Given the description of an element on the screen output the (x, y) to click on. 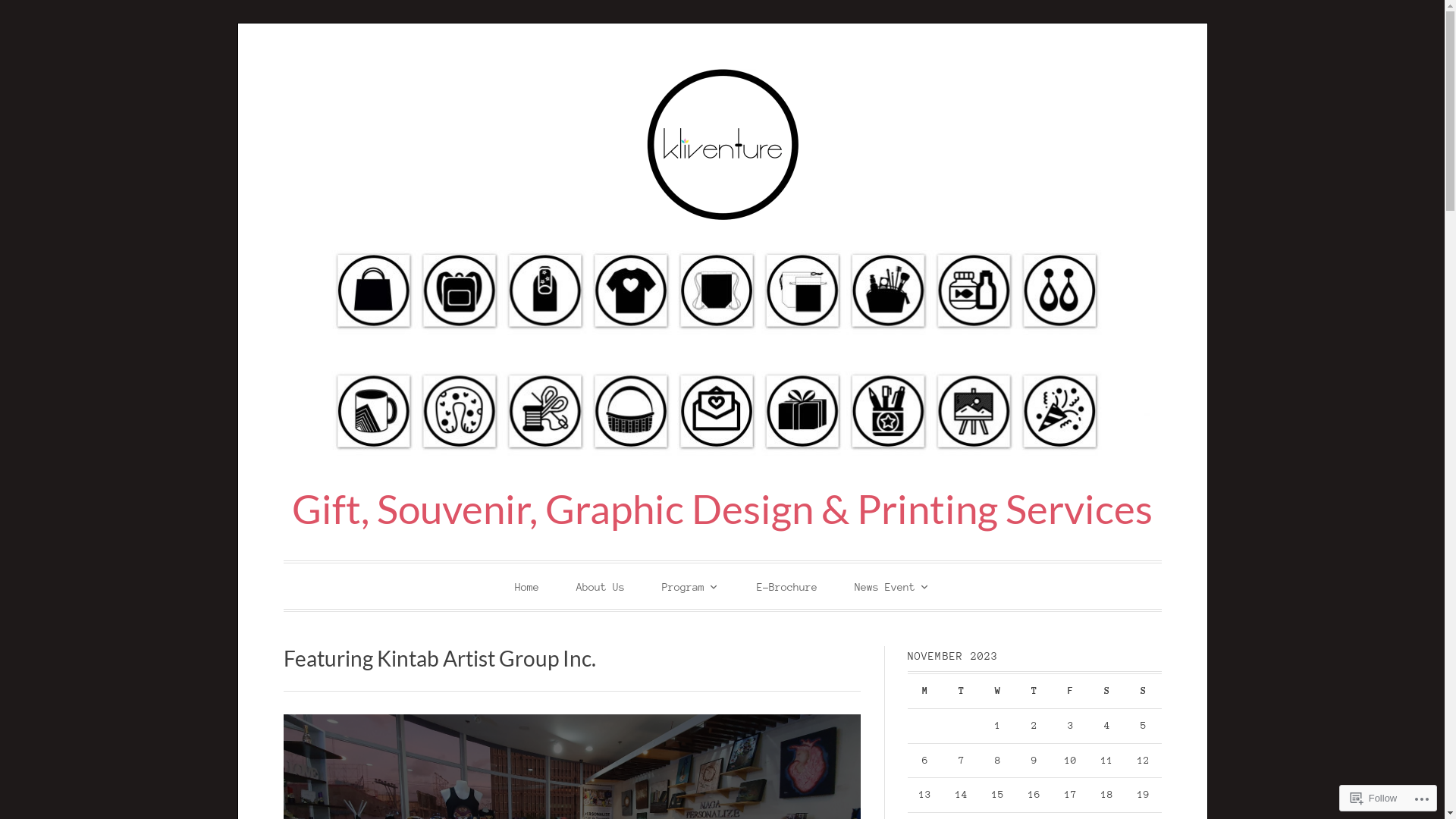
E-Brochure Element type: text (786, 587)
Follow Element type: text (1373, 797)
Home Element type: text (525, 587)
About Us Element type: text (600, 587)
Program Element type: text (690, 586)
News Event Element type: text (891, 586)
Gift, Souvenir, Graphic Design & Printing Services Element type: text (721, 508)
